Given the description of an element on the screen output the (x, y) to click on. 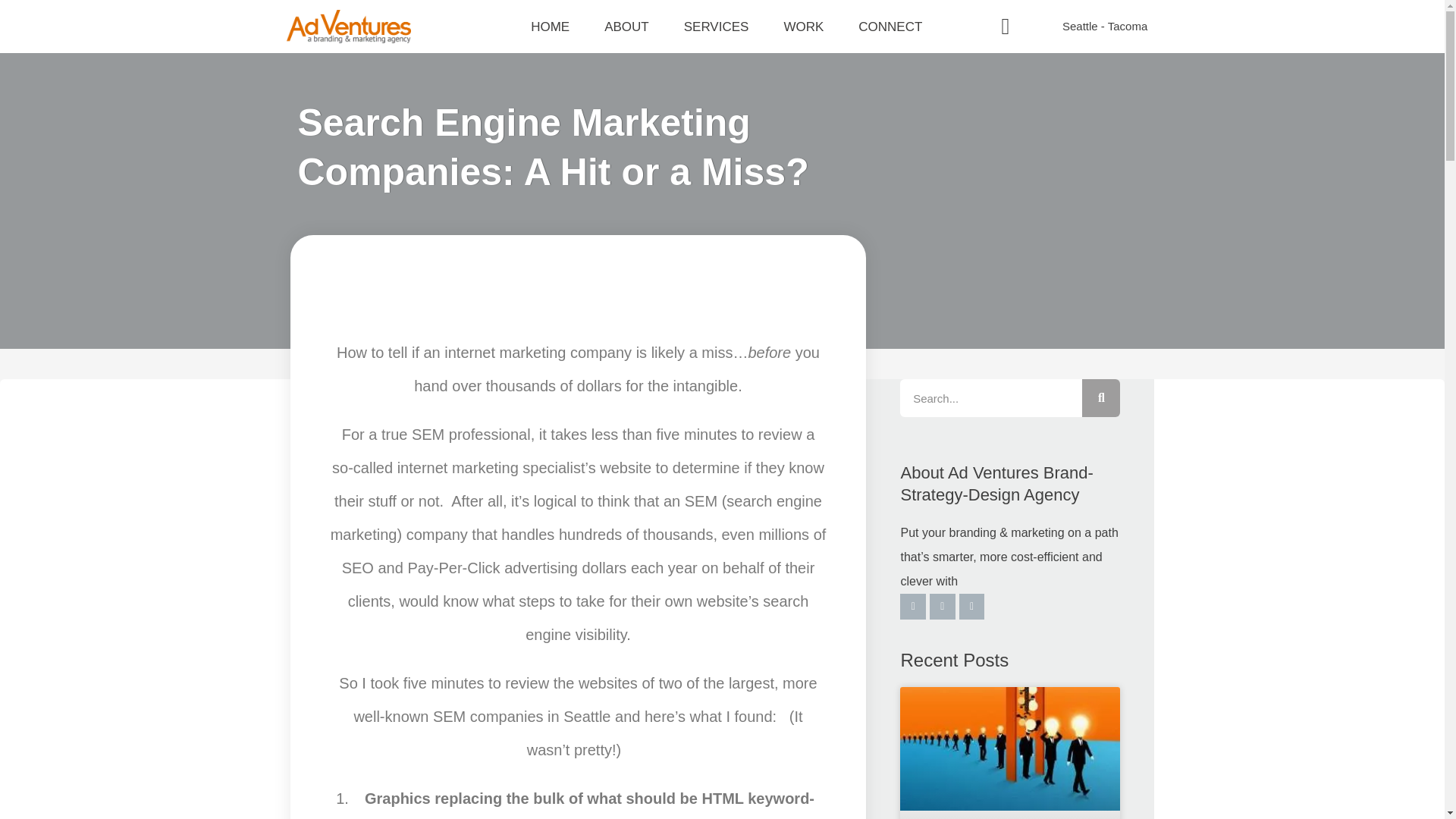
WORK (802, 26)
HOME (550, 26)
ABOUT (626, 26)
SERVICES (716, 26)
CONNECT (889, 26)
